Given the description of an element on the screen output the (x, y) to click on. 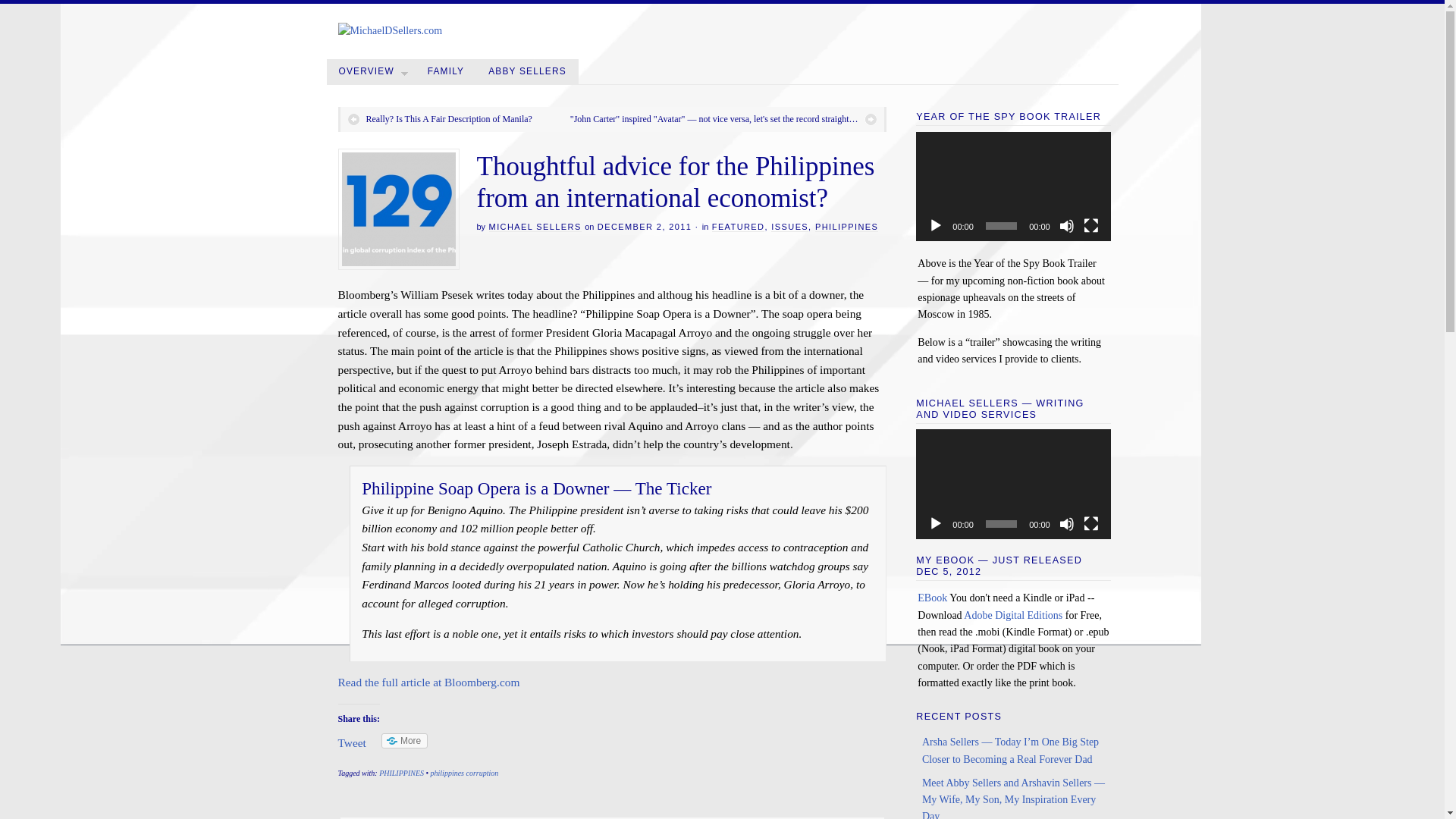
OVERVIEW (370, 71)
More (404, 740)
FAMILY (445, 71)
Mute (1066, 225)
Read the full article at Bloomberg.com (428, 681)
Posts by Michael Sellers (534, 226)
PHILIPPINES (846, 226)
Mute (1066, 522)
Tweet (351, 742)
Fullscreen (1091, 225)
2011-12-02T17:48:19-0700 (644, 225)
philippines corruption (464, 773)
MICHAEL SELLERS (534, 226)
MichaelDSellers.com (389, 30)
